Given the description of an element on the screen output the (x, y) to click on. 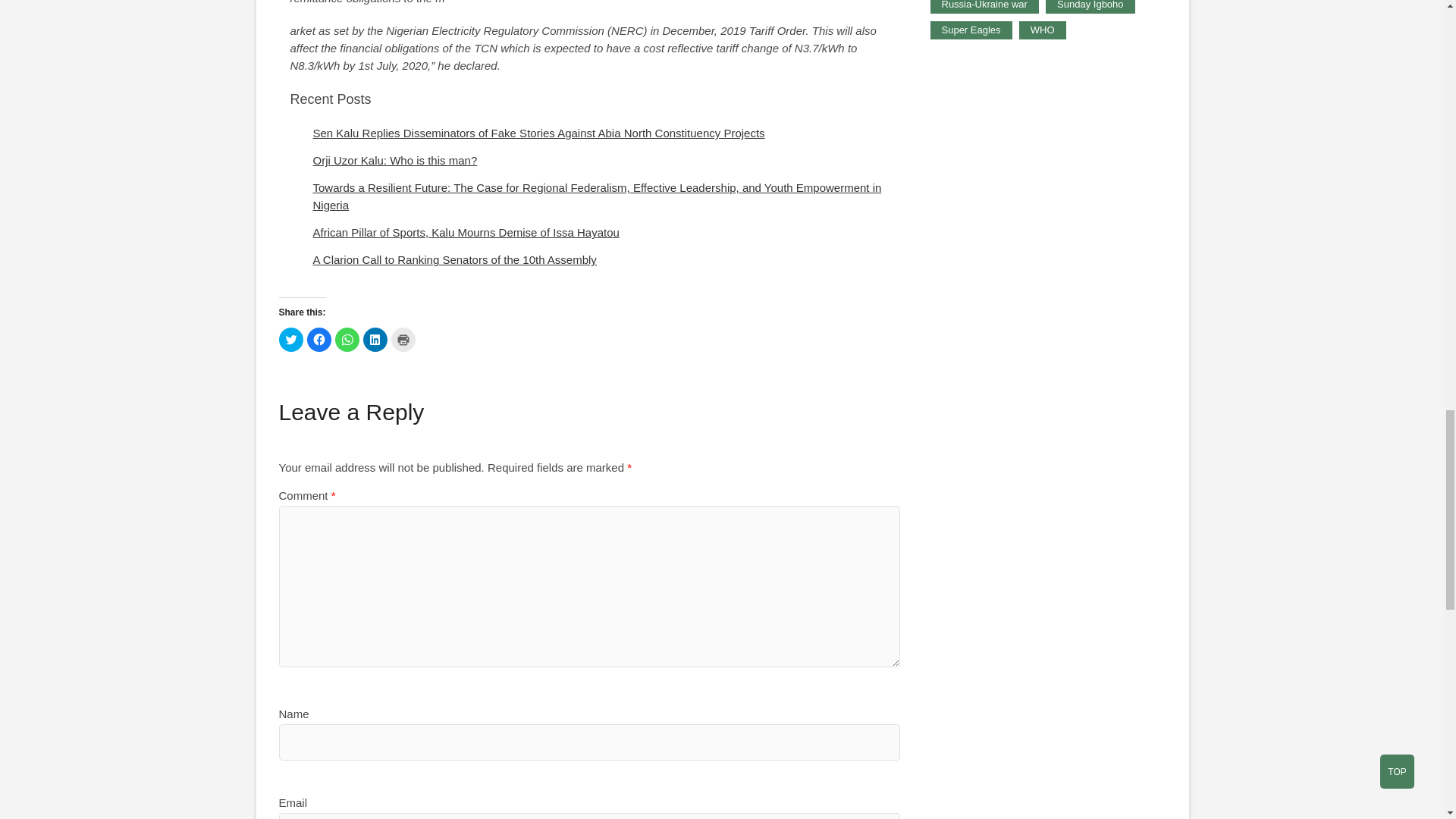
Click to share on Facebook (317, 339)
Click to share on Twitter (290, 339)
Orji Uzor Kalu: Who is this man? (395, 160)
Click to share on LinkedIn (374, 339)
A Clarion Call to Ranking Senators of the 10th Assembly (454, 259)
Click to print (402, 339)
Click to share on WhatsApp (346, 339)
African Pillar of Sports, Kalu Mourns Demise of Issa Hayatou (465, 232)
